Given the description of an element on the screen output the (x, y) to click on. 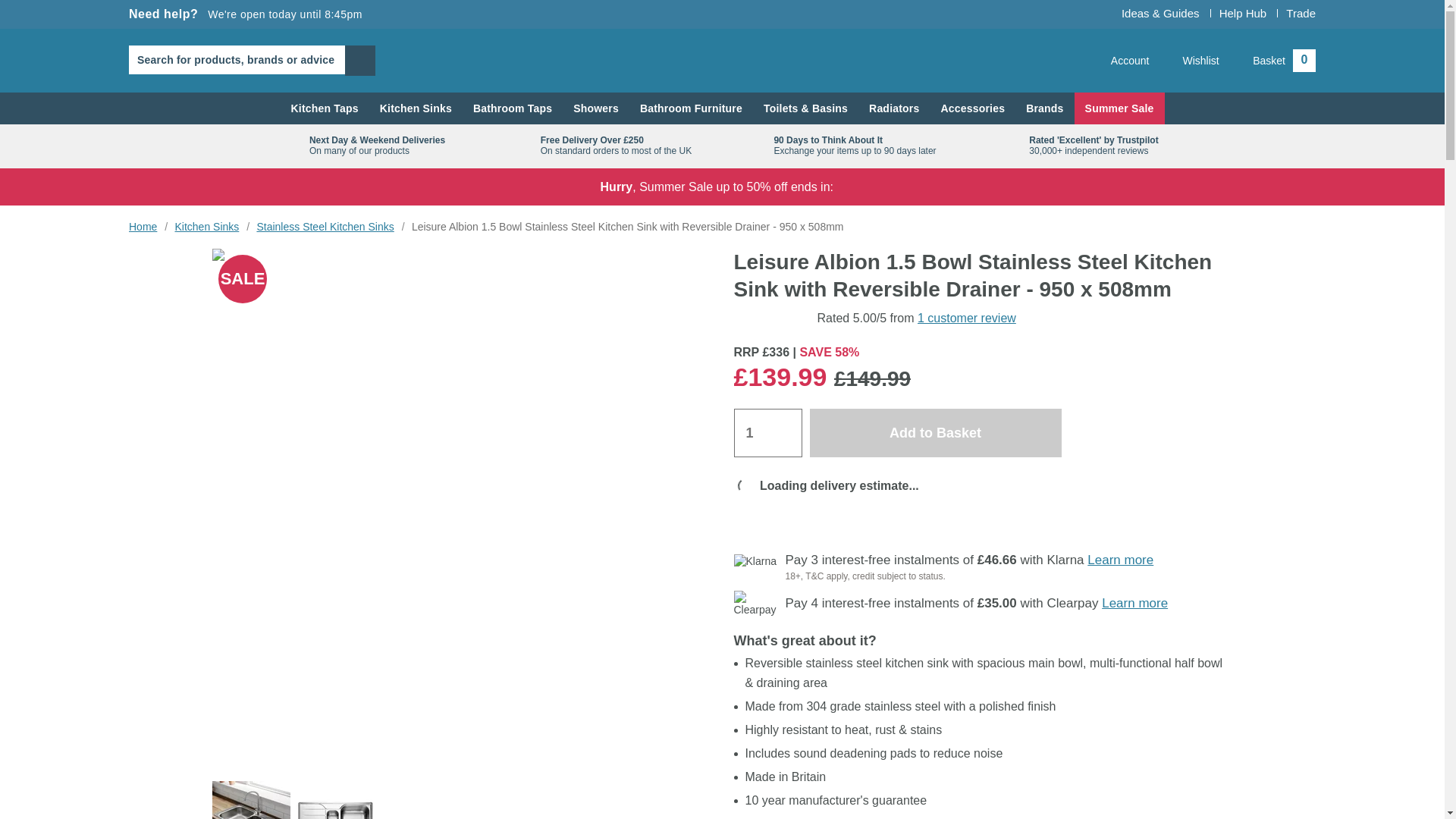
Brands (1044, 108)
Help Hub (1243, 12)
Trade (1121, 60)
Need help? We're open today until 8:45pm (1300, 12)
Kitchen Sinks (245, 14)
Wishlist (416, 108)
Kitchen Taps (1190, 60)
Tap Warehouse (323, 108)
Search (722, 60)
